Given the description of an element on the screen output the (x, y) to click on. 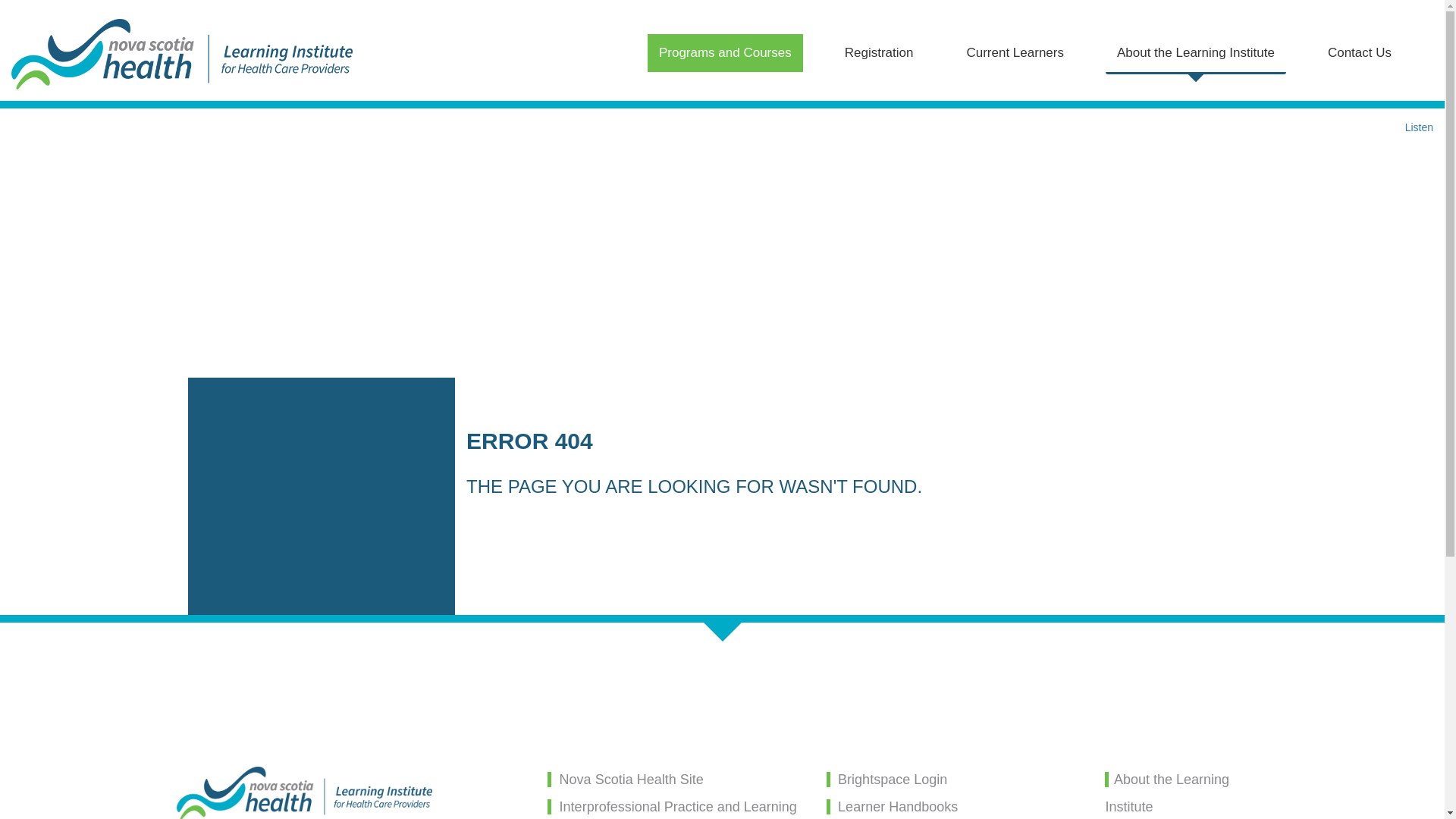
Current Learners (1015, 53)
Programs and Courses (725, 53)
Listen to this page using ReadSpeaker webReader (1418, 127)
Registration (878, 53)
